Given the description of an element on the screen output the (x, y) to click on. 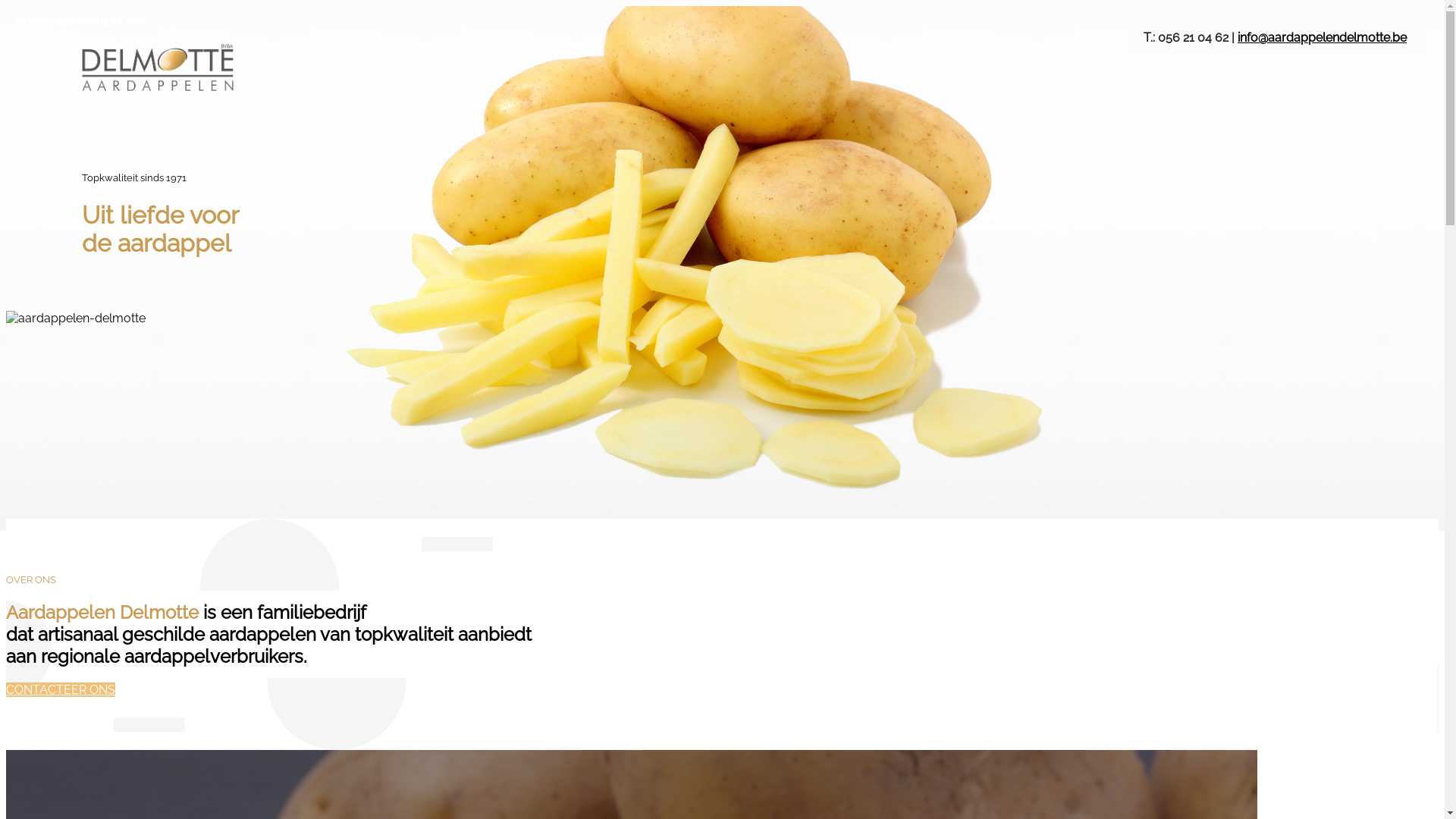
info@aardappelendelmotte.be Element type: text (1321, 37)
CONTACTEER ONS Element type: text (60, 689)
